Given the description of an element on the screen output the (x, y) to click on. 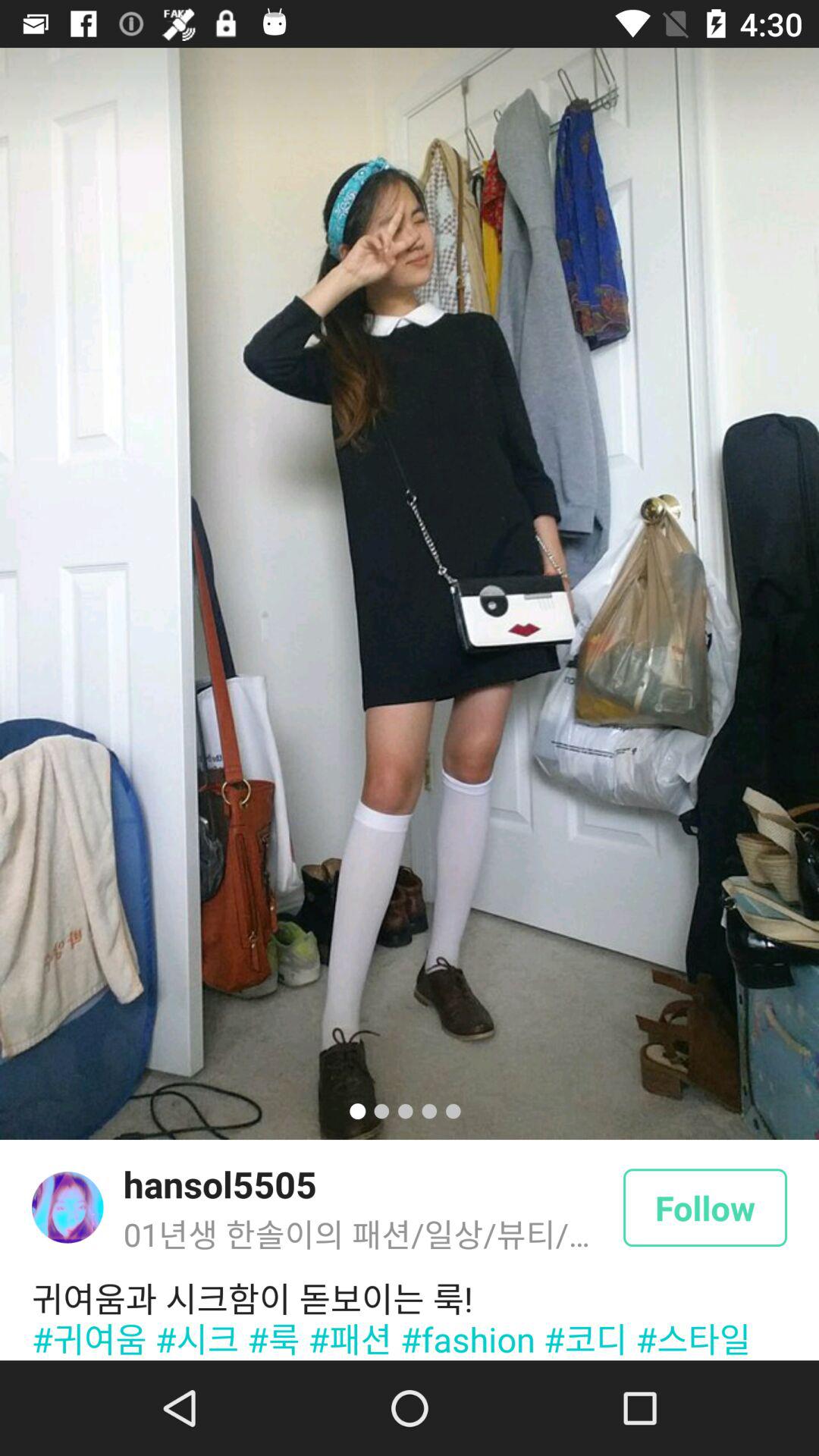
open icon at the bottom right corner (705, 1207)
